Given the description of an element on the screen output the (x, y) to click on. 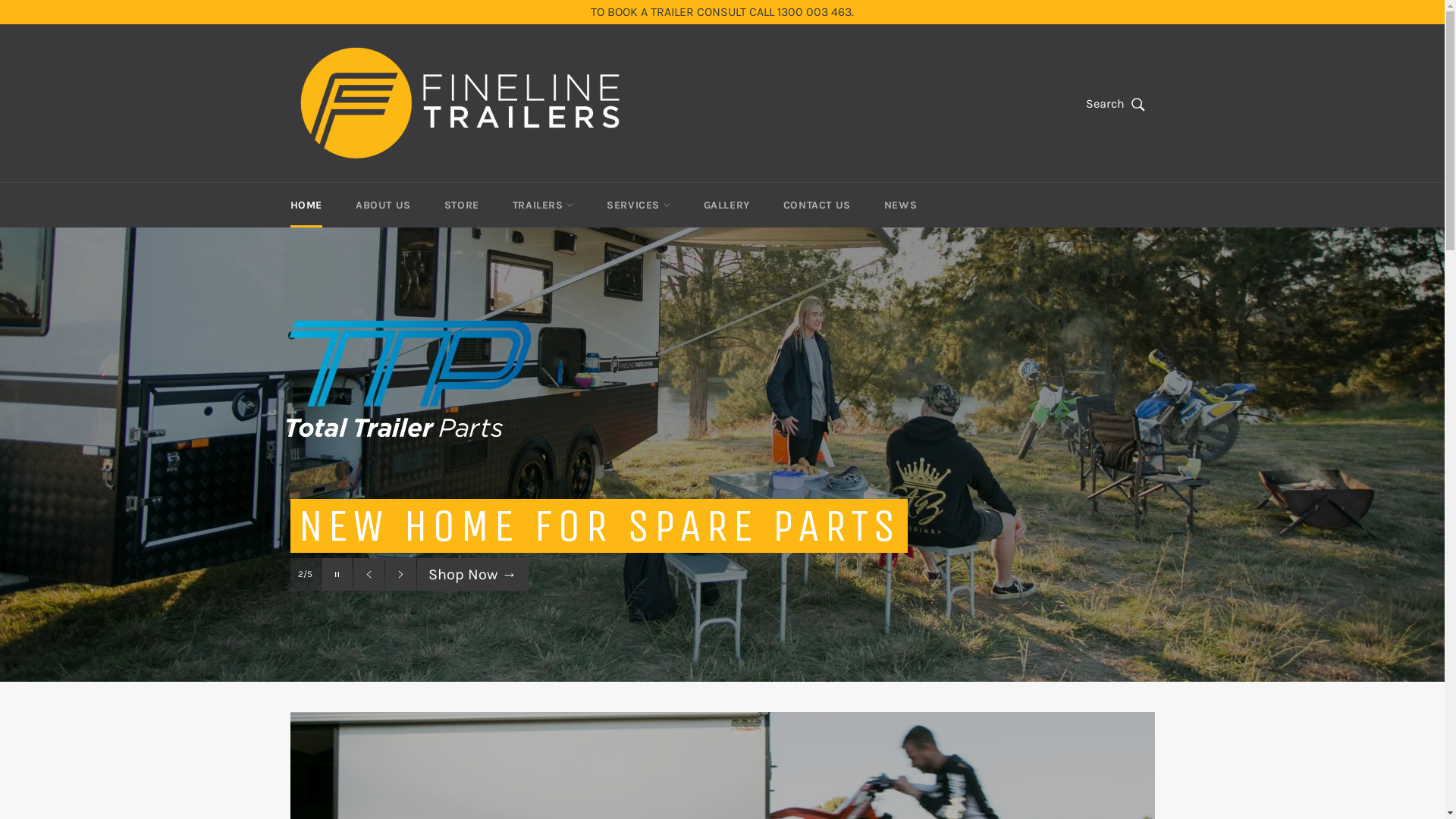
GALLERY Element type: text (726, 204)
Pause slideshow Element type: text (336, 574)
Search
Search Element type: text (1116, 103)
Previous slide Element type: text (368, 574)
SERVICES Element type: text (637, 204)
Next slide Element type: text (400, 574)
TRAILERS Element type: text (542, 204)
HOME Element type: text (305, 204)
STORE Element type: text (461, 204)
ABOUT US Element type: text (383, 204)
CONTACT US Element type: text (817, 204)
NEWS Element type: text (900, 204)
